Given the description of an element on the screen output the (x, y) to click on. 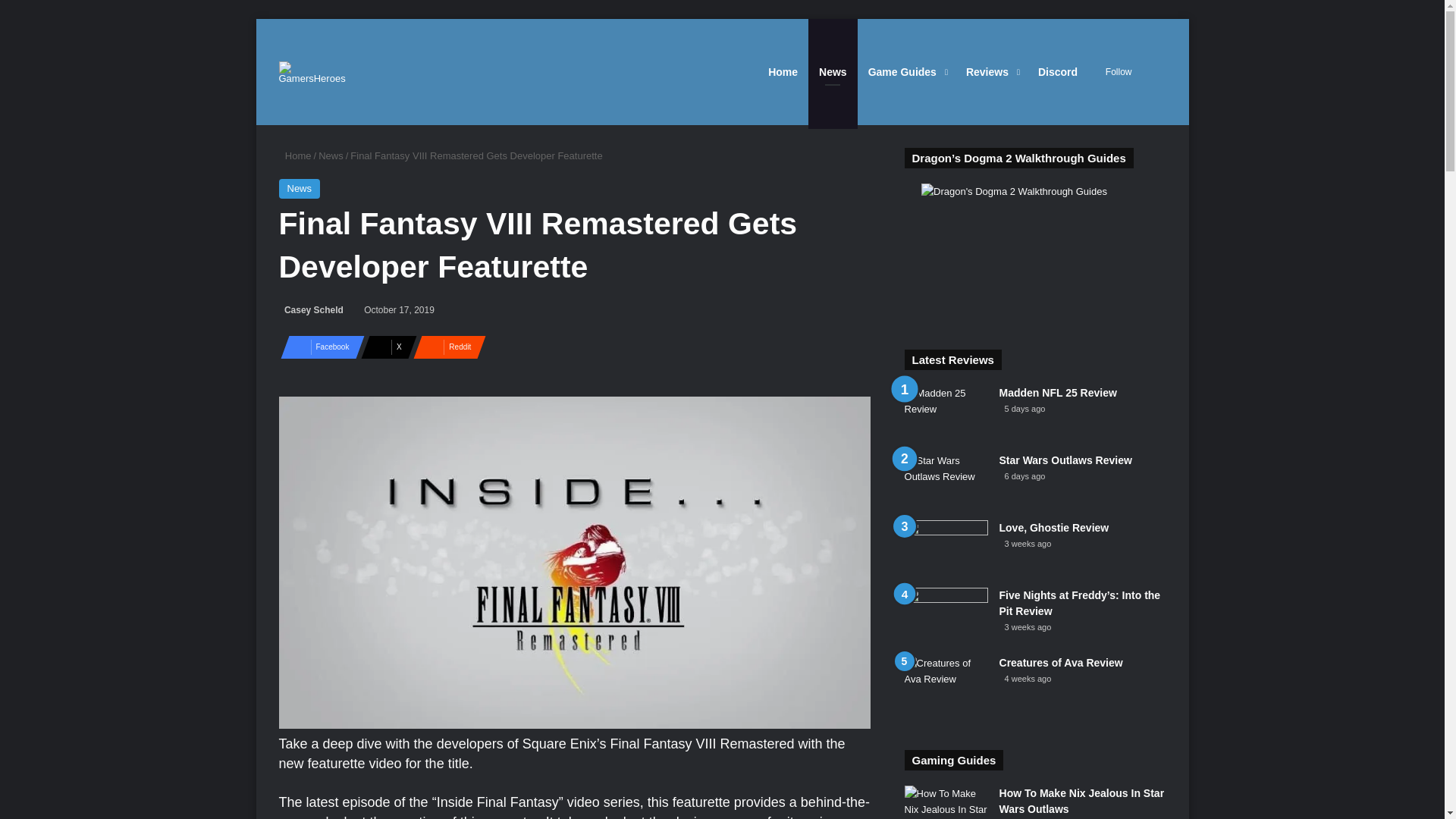
Reddit (445, 346)
Game Guides (906, 71)
Casey Scheld (311, 309)
Casey Scheld (311, 309)
Facebook (318, 346)
News (299, 189)
X (384, 346)
Home (295, 155)
News (330, 155)
Game Guides (906, 71)
